Given the description of an element on the screen output the (x, y) to click on. 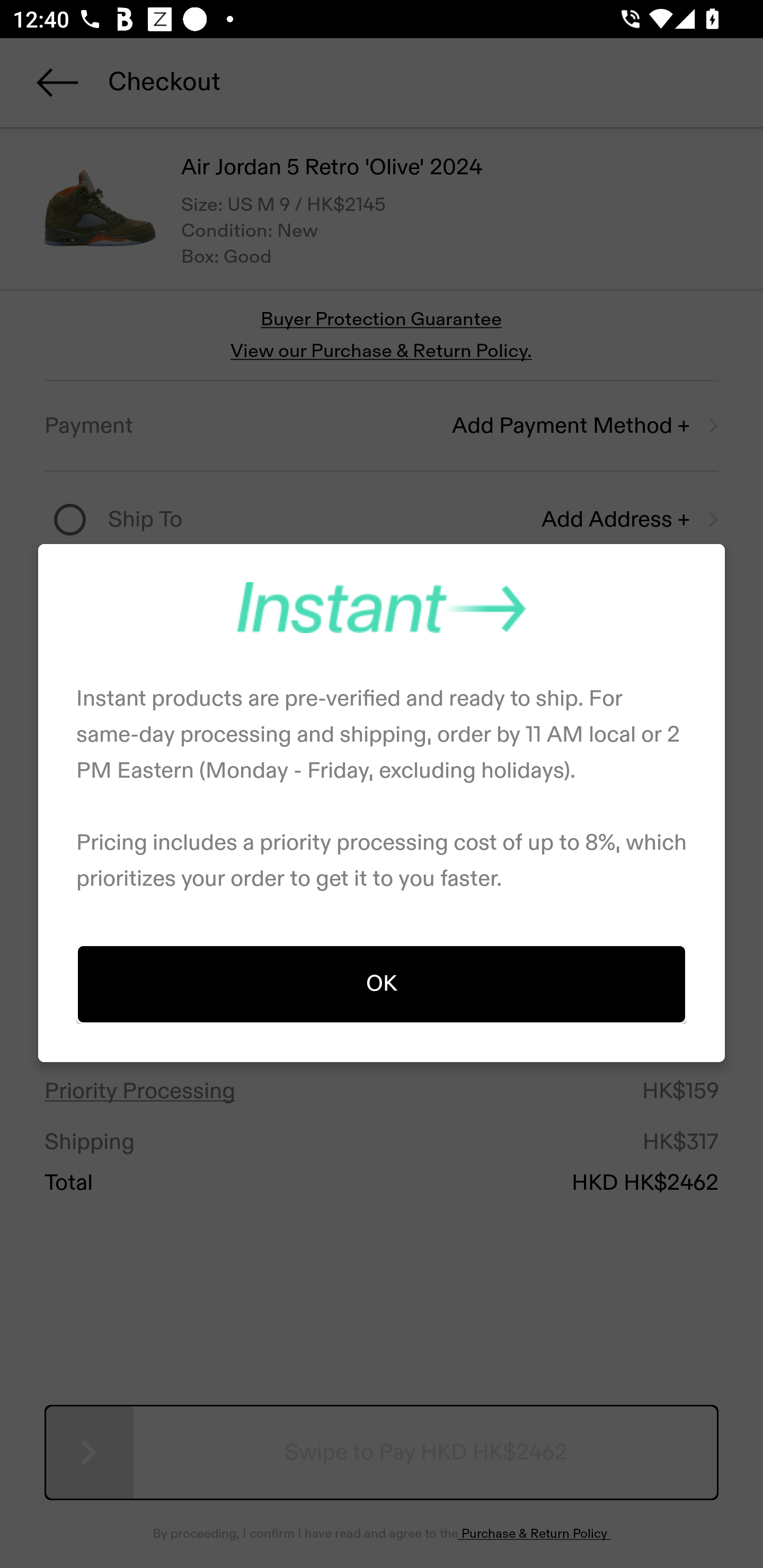
OK (381, 983)
